Given the description of an element on the screen output the (x, y) to click on. 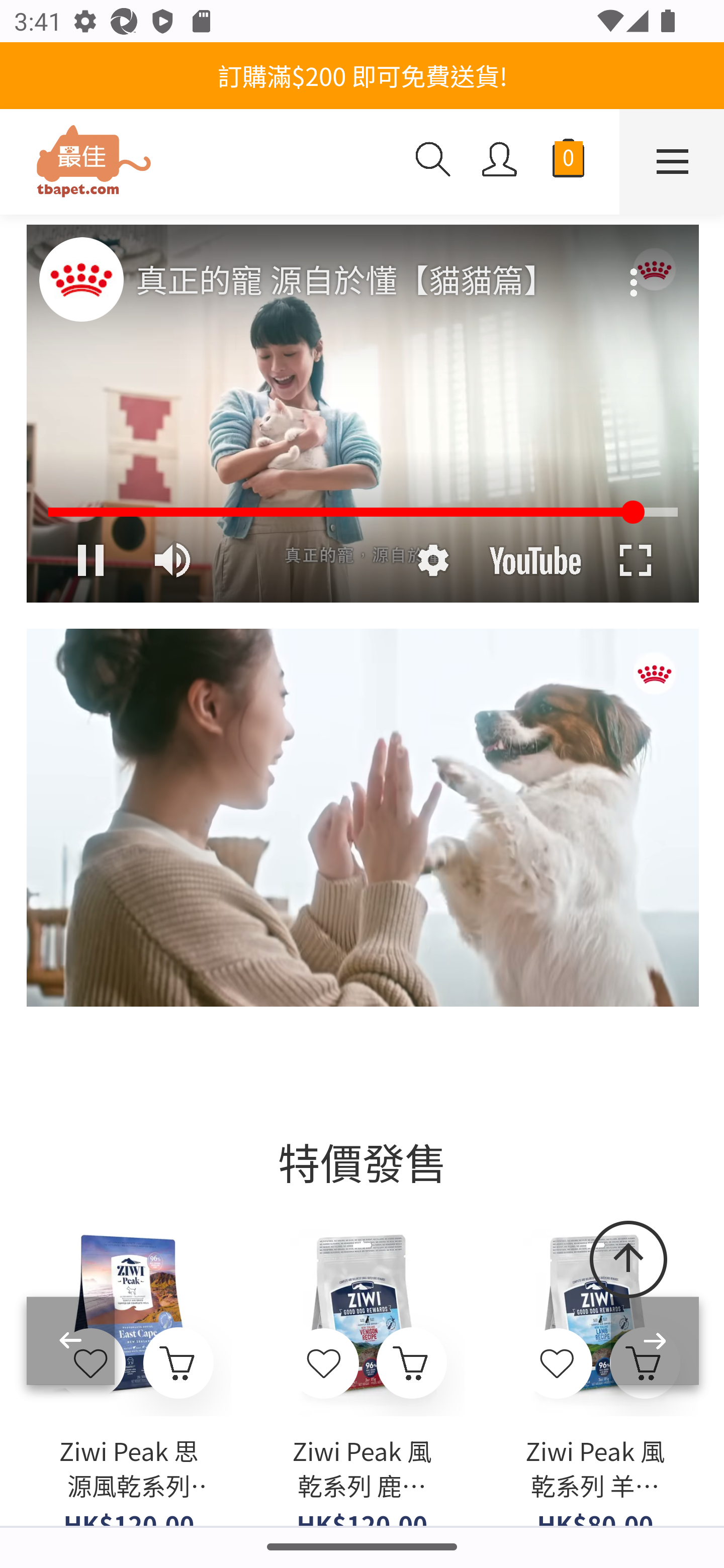
450x (200, 162)
sign_in (499, 161)
0 (567, 161)
More (635, 269)
Photo image of Royal Canin HK (80, 278)
真正的寵 源自於懂【貓貓篇】 (364, 281)
Pause (89, 560)
Mute (173, 560)
Settings (432, 560)
Watch on YouTube (534, 560)
Full screen (635, 560)
 (324, 1364)
 (556, 1364)
